Given the description of an element on the screen output the (x, y) to click on. 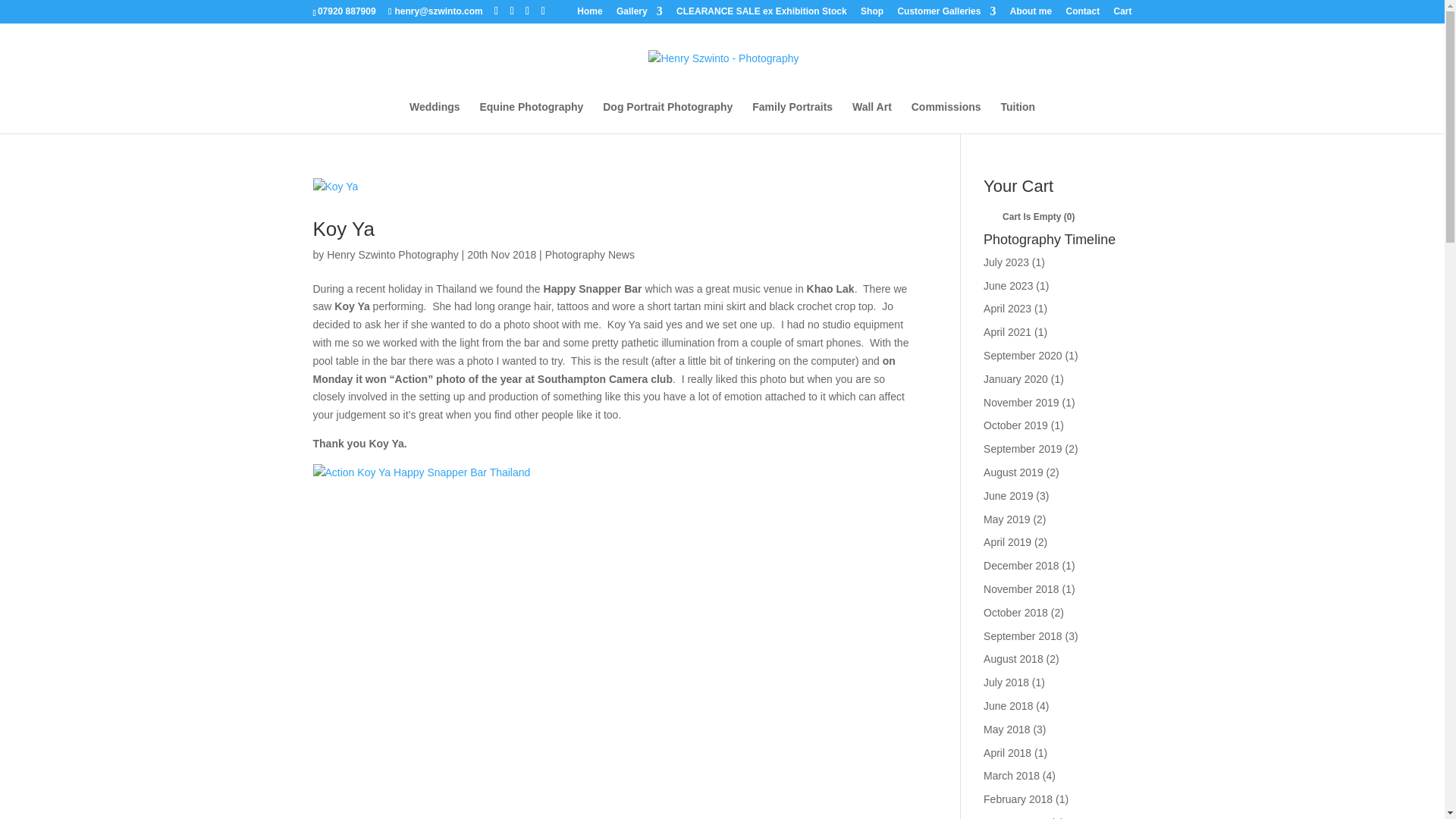
About me (1030, 14)
CLEARANCE SALE ex Exhibition Stock (762, 14)
Dog Portrait Photography (667, 117)
Wall Art (871, 117)
Commissions (946, 117)
Cart (1122, 14)
Customer Galleries (945, 14)
Equine Photography (531, 117)
Contact (1082, 14)
Family Portraits (792, 117)
